Given the description of an element on the screen output the (x, y) to click on. 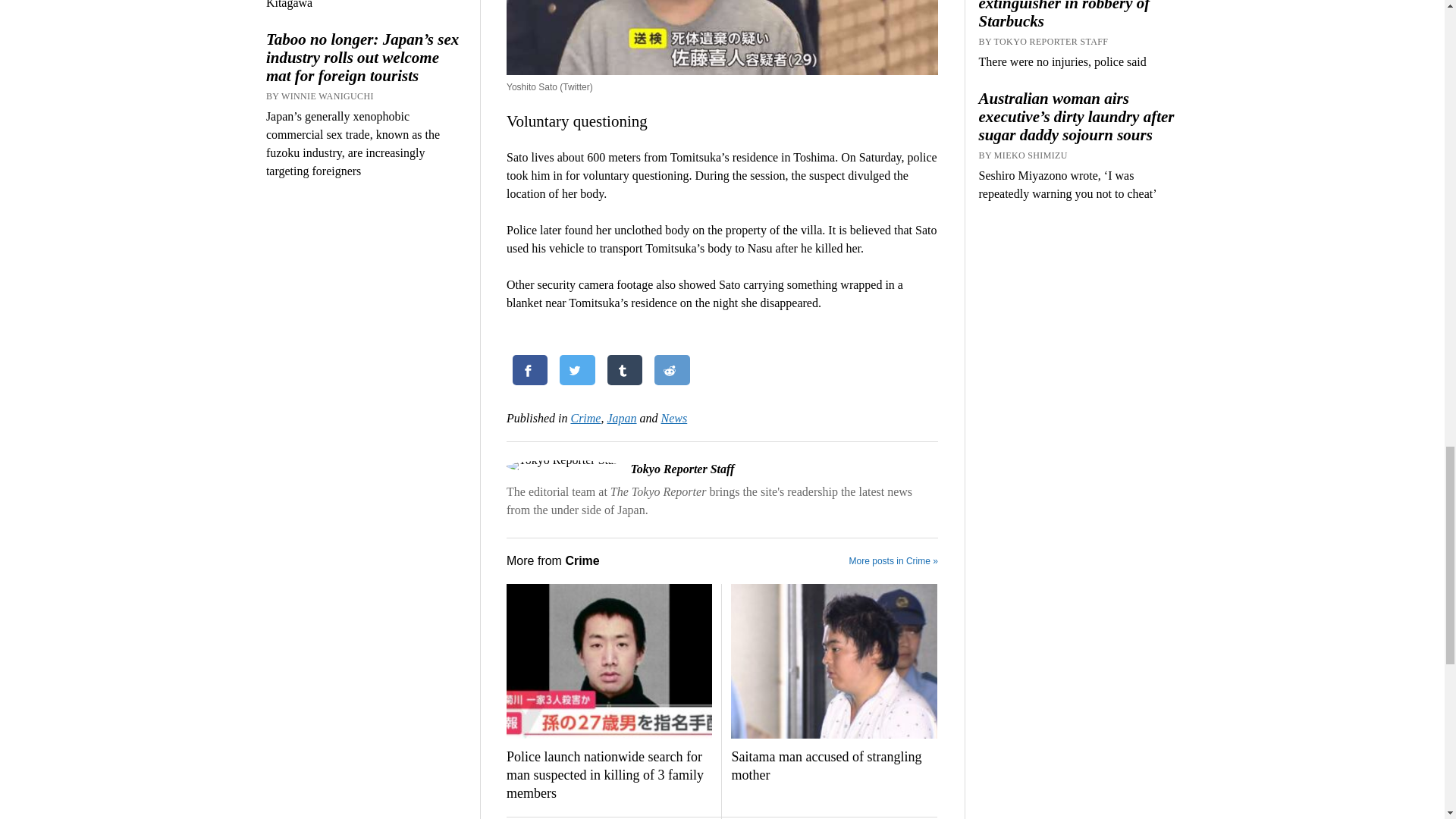
View all posts in Japan (621, 418)
View all posts in News (674, 418)
View all posts in Crime (584, 418)
